Given the description of an element on the screen output the (x, y) to click on. 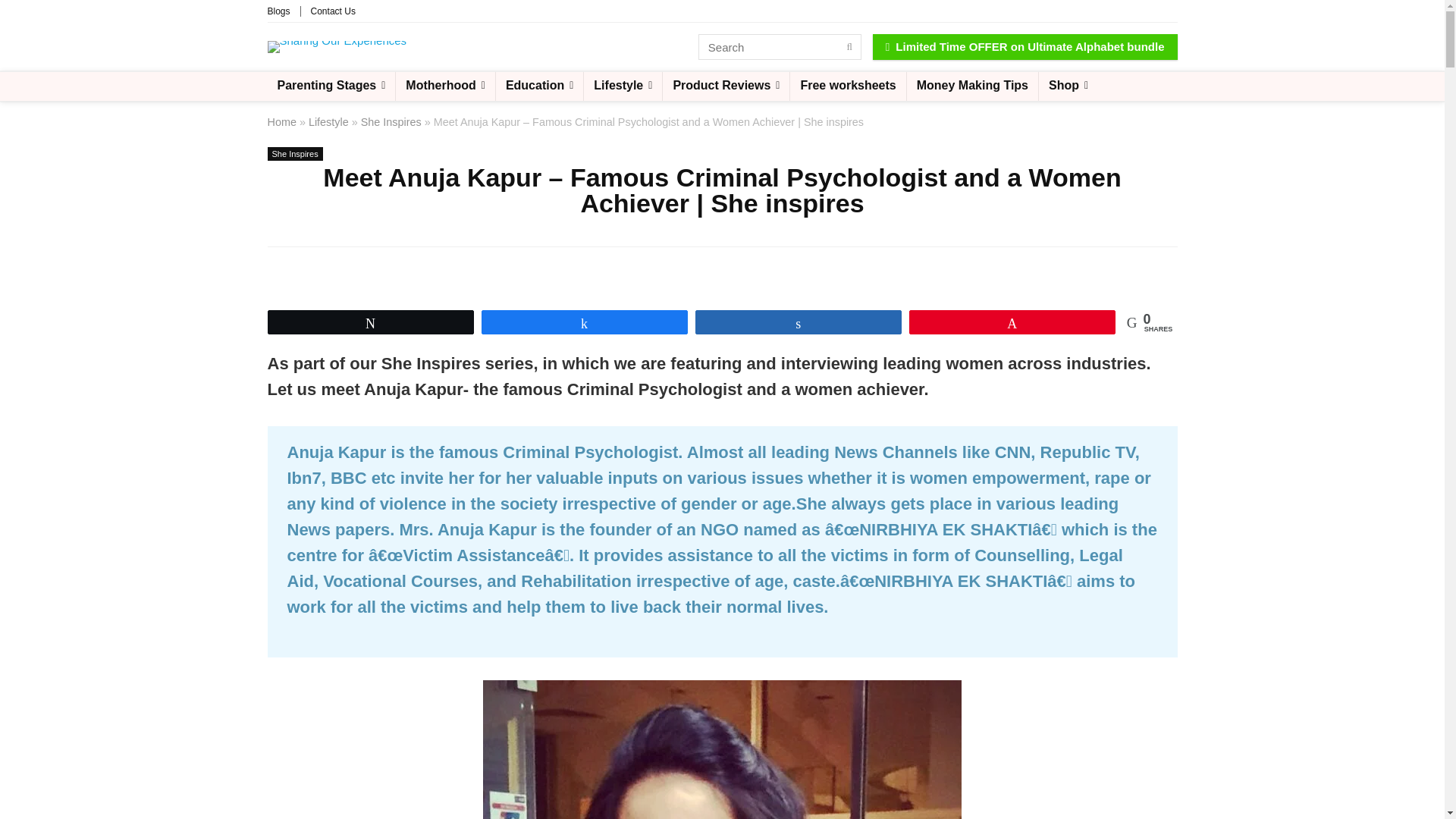
Limited Time OFFER on Ultimate Alphabet bundle (1024, 46)
Blogs (277, 10)
Parenting Stages (330, 86)
Motherhood (445, 86)
View all posts in She Inspires (293, 153)
Contact Us (333, 10)
Education (539, 86)
Lifestyle (622, 86)
Product Reviews (725, 86)
